Given the description of an element on the screen output the (x, y) to click on. 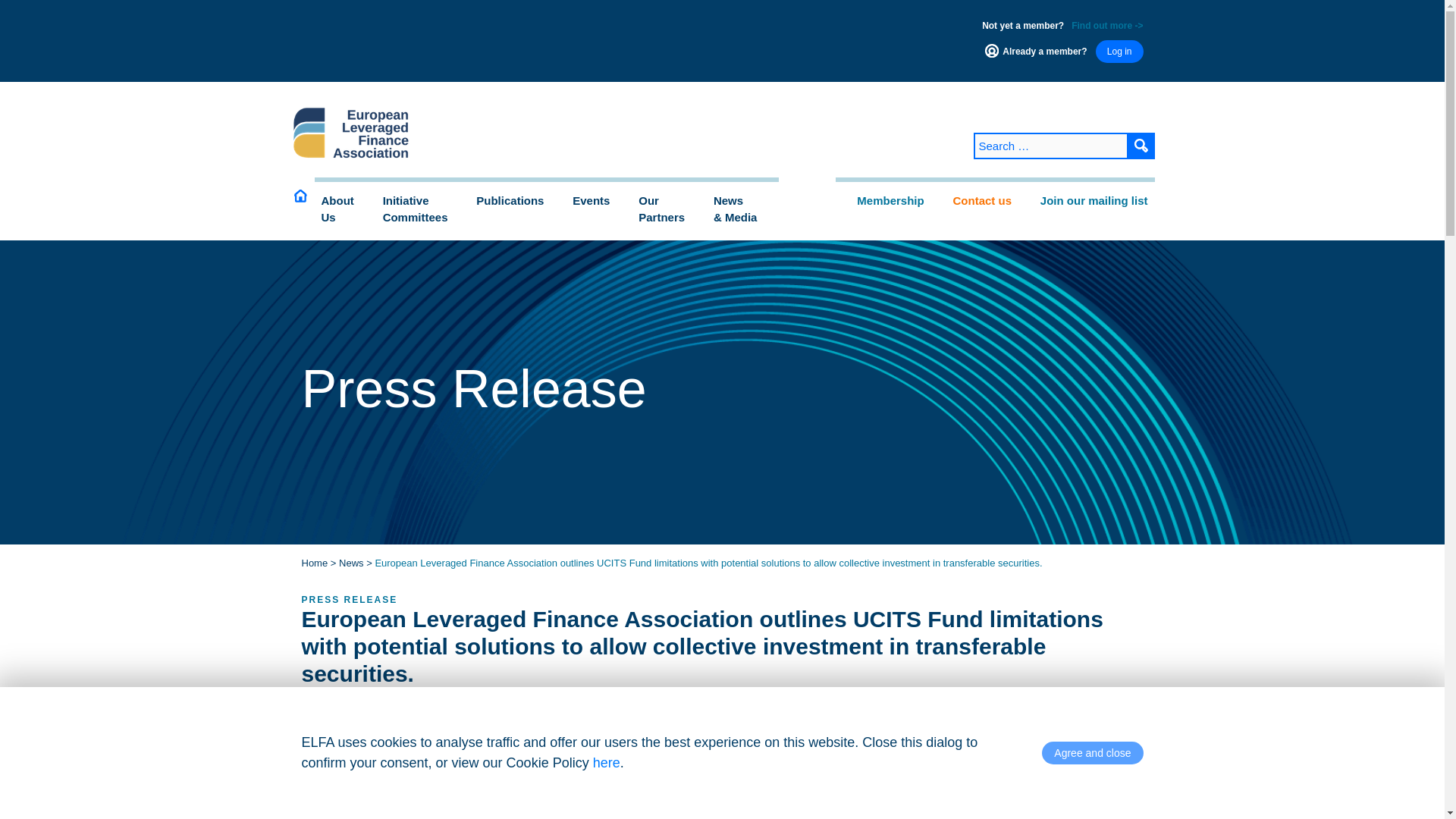
Search (1141, 145)
Search (422, 209)
AboutUs (668, 209)
Search (1141, 145)
Log in (344, 209)
Initiative Committees (1141, 145)
Publications (1119, 51)
Events (344, 209)
Publications (422, 209)
